Given the description of an element on the screen output the (x, y) to click on. 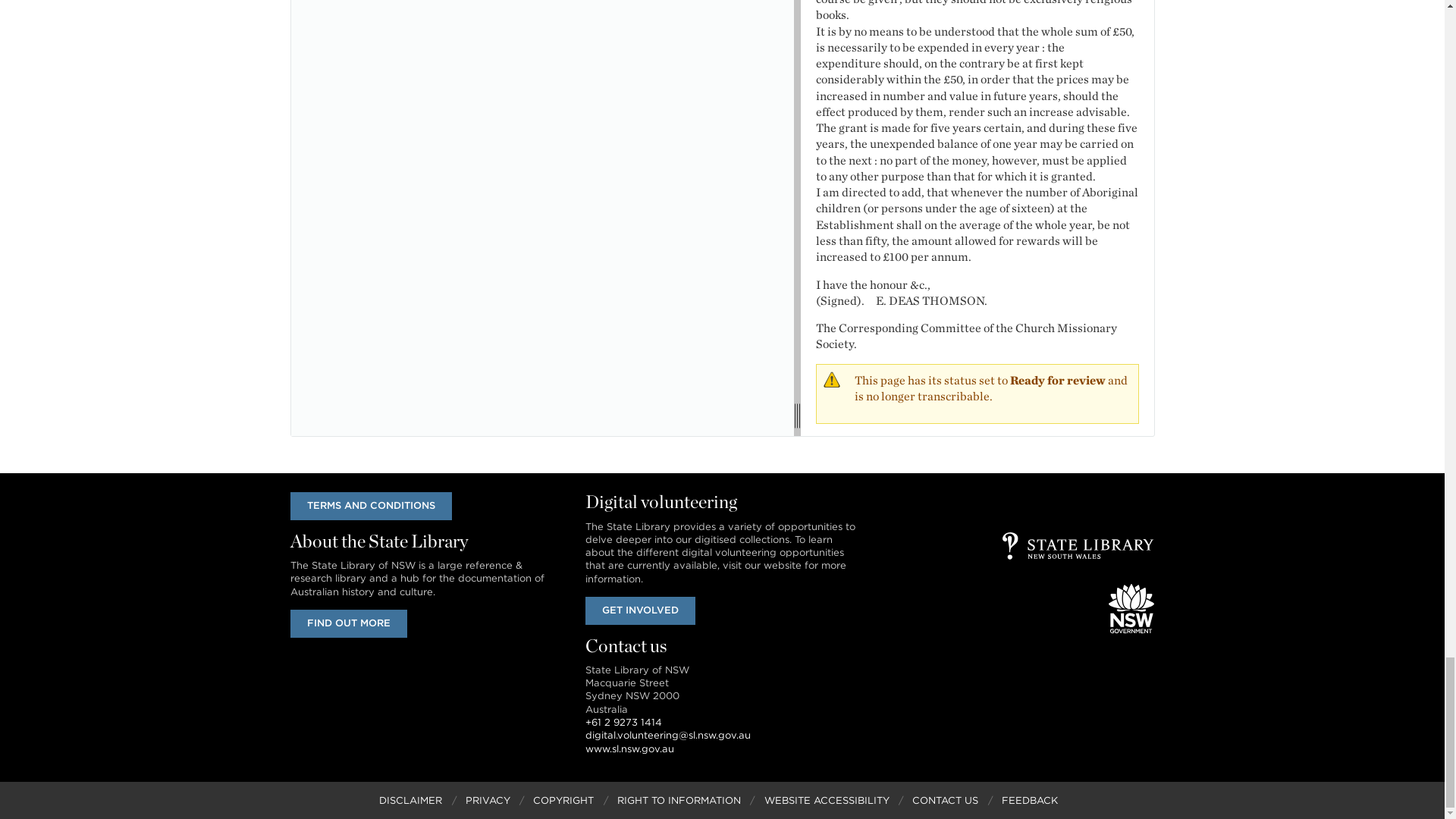
State Library of NSW (1078, 546)
NSW Government (1131, 608)
